Given the description of an element on the screen output the (x, y) to click on. 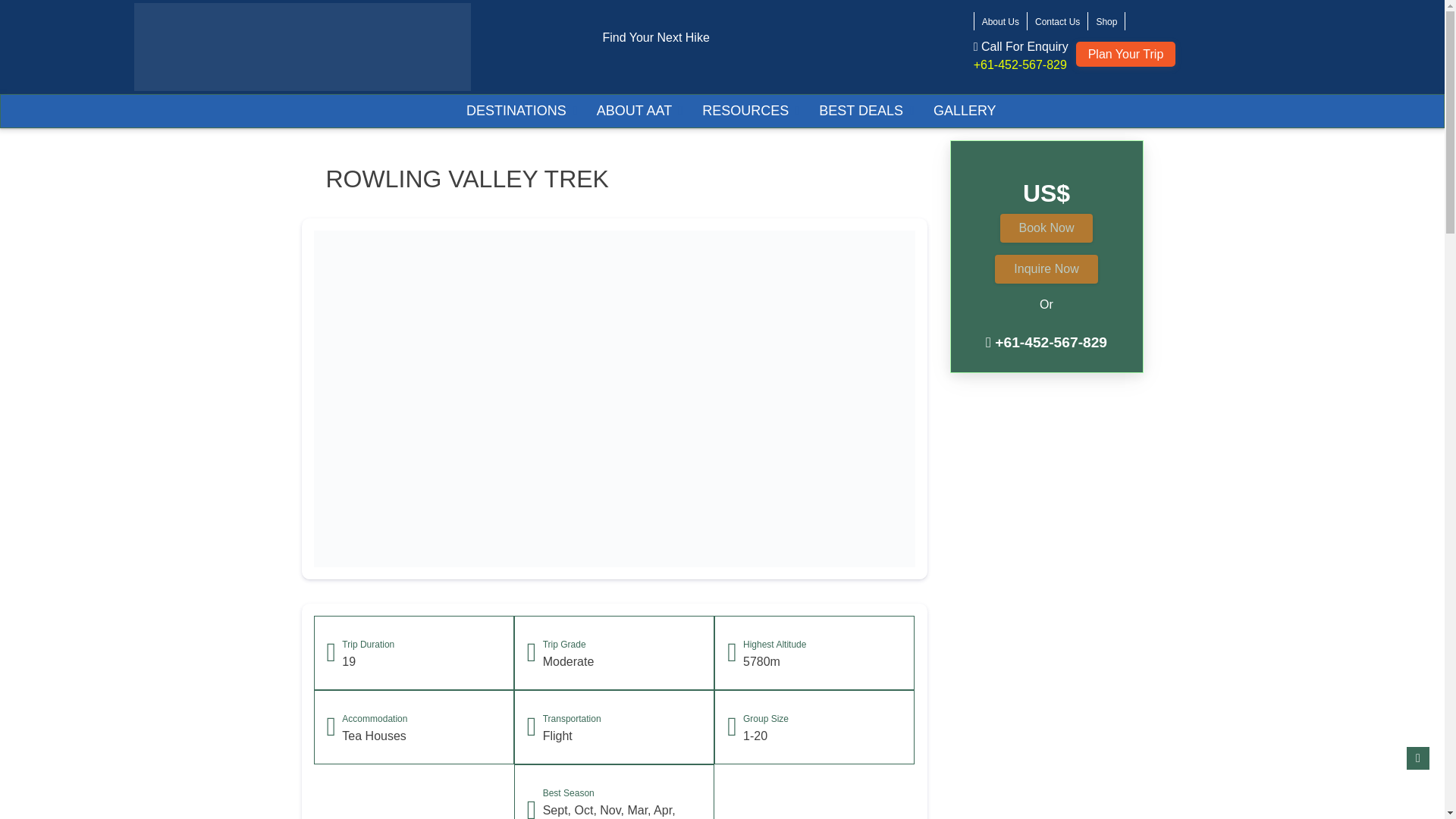
Shop (1106, 21)
DESTINATIONS (515, 110)
RESOURCES (745, 110)
BEST DEALS (860, 110)
ABOUT AAT (633, 110)
Contact Us (1057, 21)
About Us (1000, 21)
Plan Your Trip (1125, 53)
